Given the description of an element on the screen output the (x, y) to click on. 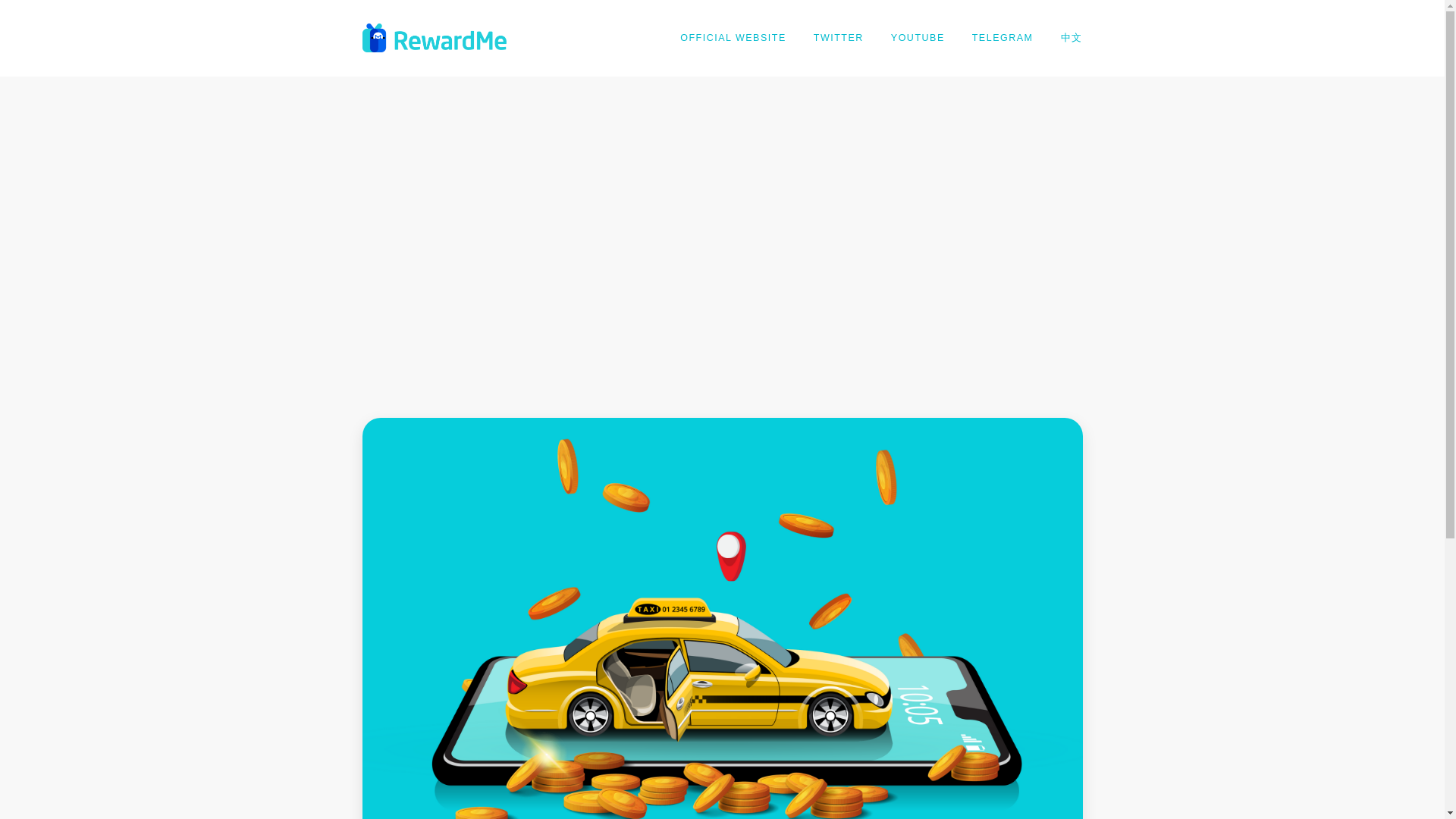
YOUTUBE (917, 38)
OFFICIAL WEBSITE (733, 38)
TWITTER (838, 38)
Telegram (1002, 38)
YouTube (917, 38)
TELEGRAM (1002, 38)
Twitter (838, 38)
